Given the description of an element on the screen output the (x, y) to click on. 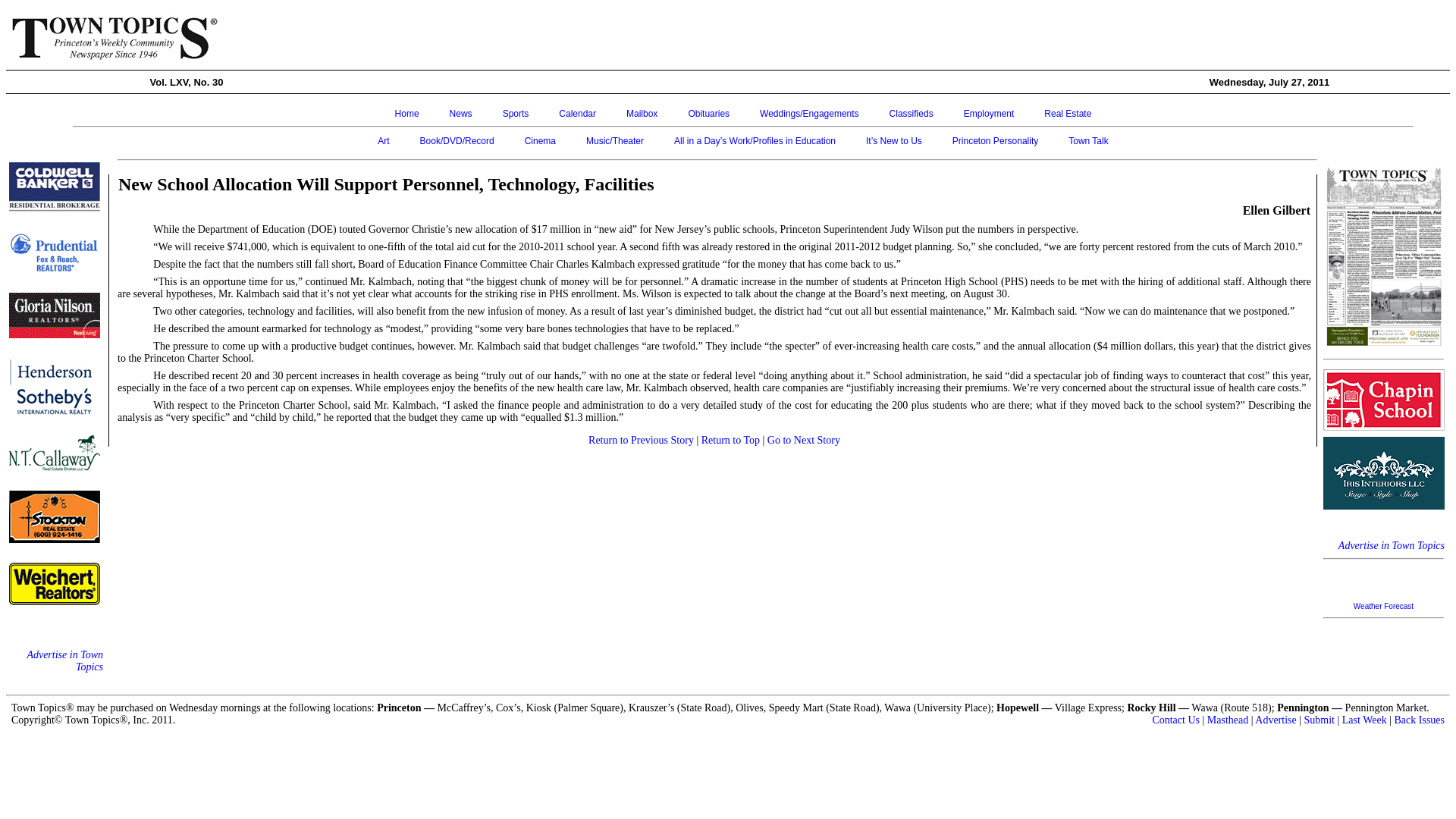
Home (406, 73)
Sports (515, 73)
Advertise (1275, 587)
Classifieds (911, 73)
Advertise in Town Topics (64, 528)
Return to Previous Story (641, 400)
Weather Forecast (1383, 283)
Return to Top (730, 400)
Advertise in Town Topics (1391, 222)
Cinema (540, 101)
Art (382, 101)
Real Estate (1066, 73)
Masthead (1227, 587)
Employment (988, 73)
Town Talk (1088, 101)
